Given the description of an element on the screen output the (x, y) to click on. 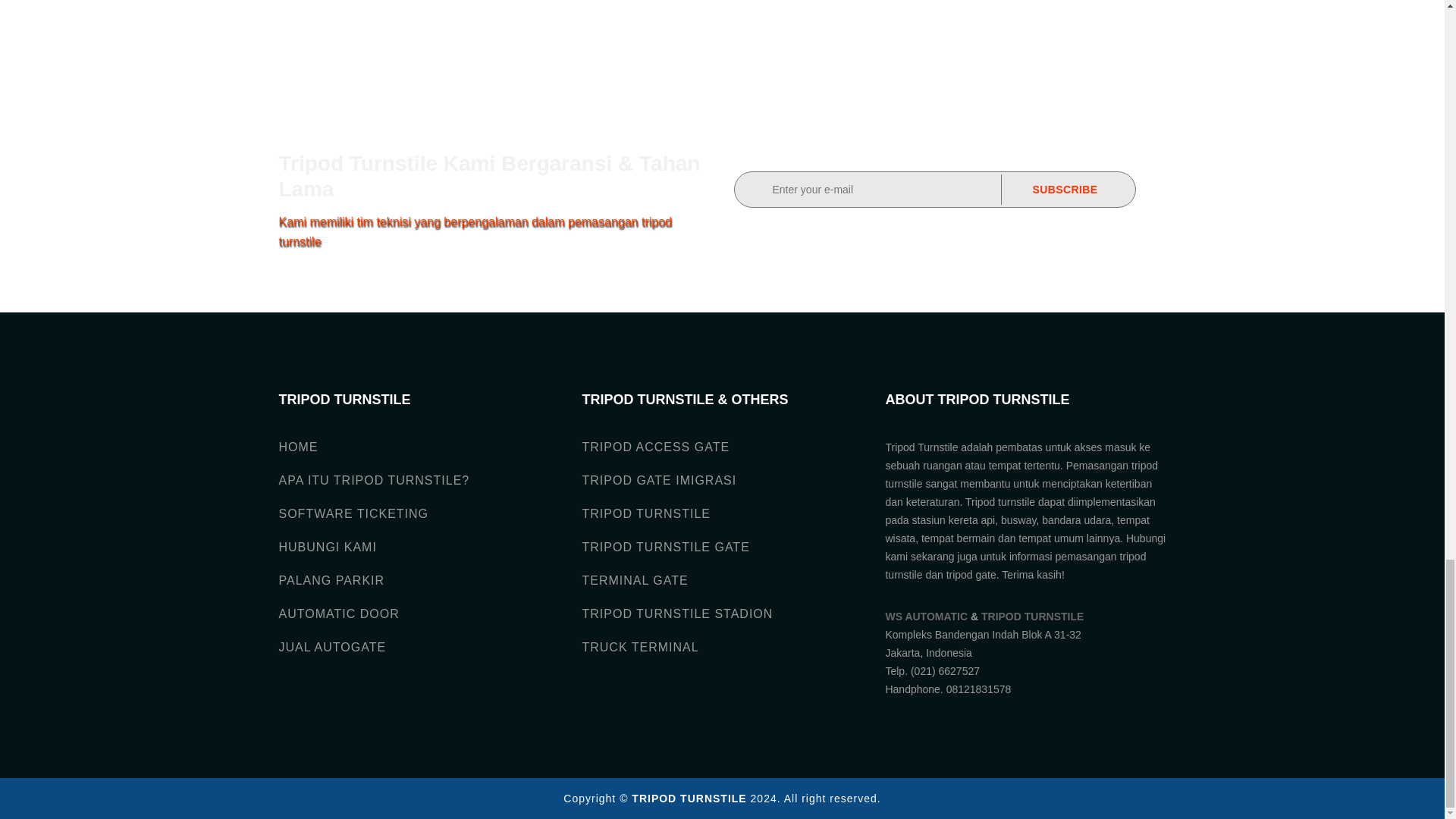
Subscribe (1065, 189)
